Given the description of an element on the screen output the (x, y) to click on. 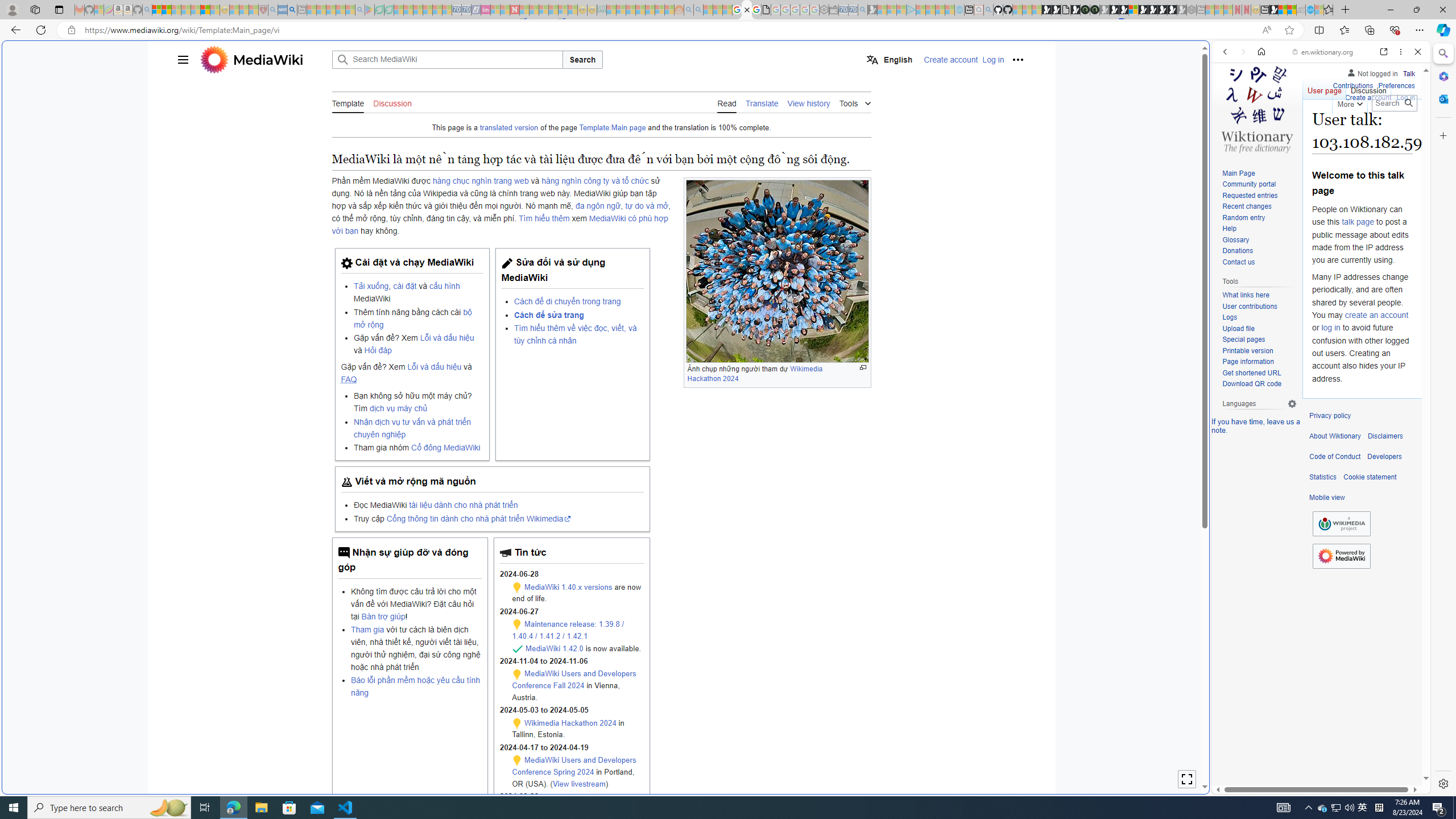
MediaWiki 1.42.0 (554, 647)
Community portal (1248, 184)
Powered by MediaWiki (1341, 556)
View history (808, 102)
